Given the description of an element on the screen output the (x, y) to click on. 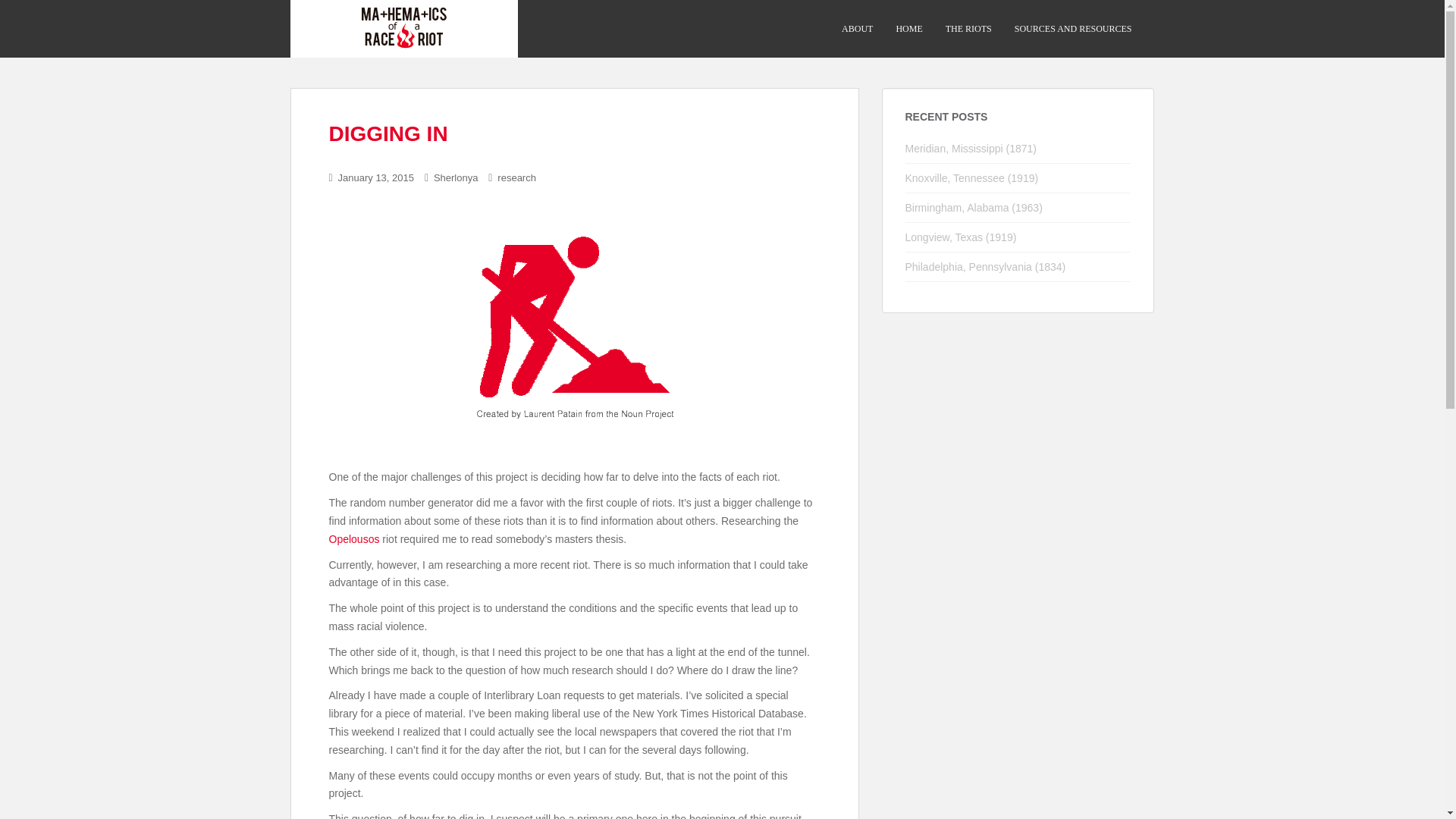
Sherlonya (456, 177)
About (856, 28)
The Riots (968, 28)
THE RIOTS (968, 28)
Sources and Resources (1072, 28)
research (516, 177)
January 13, 2015 (375, 177)
SOURCES AND RESOURCES (1072, 28)
Opelousos (354, 539)
ABOUT (856, 28)
